Given the description of an element on the screen output the (x, y) to click on. 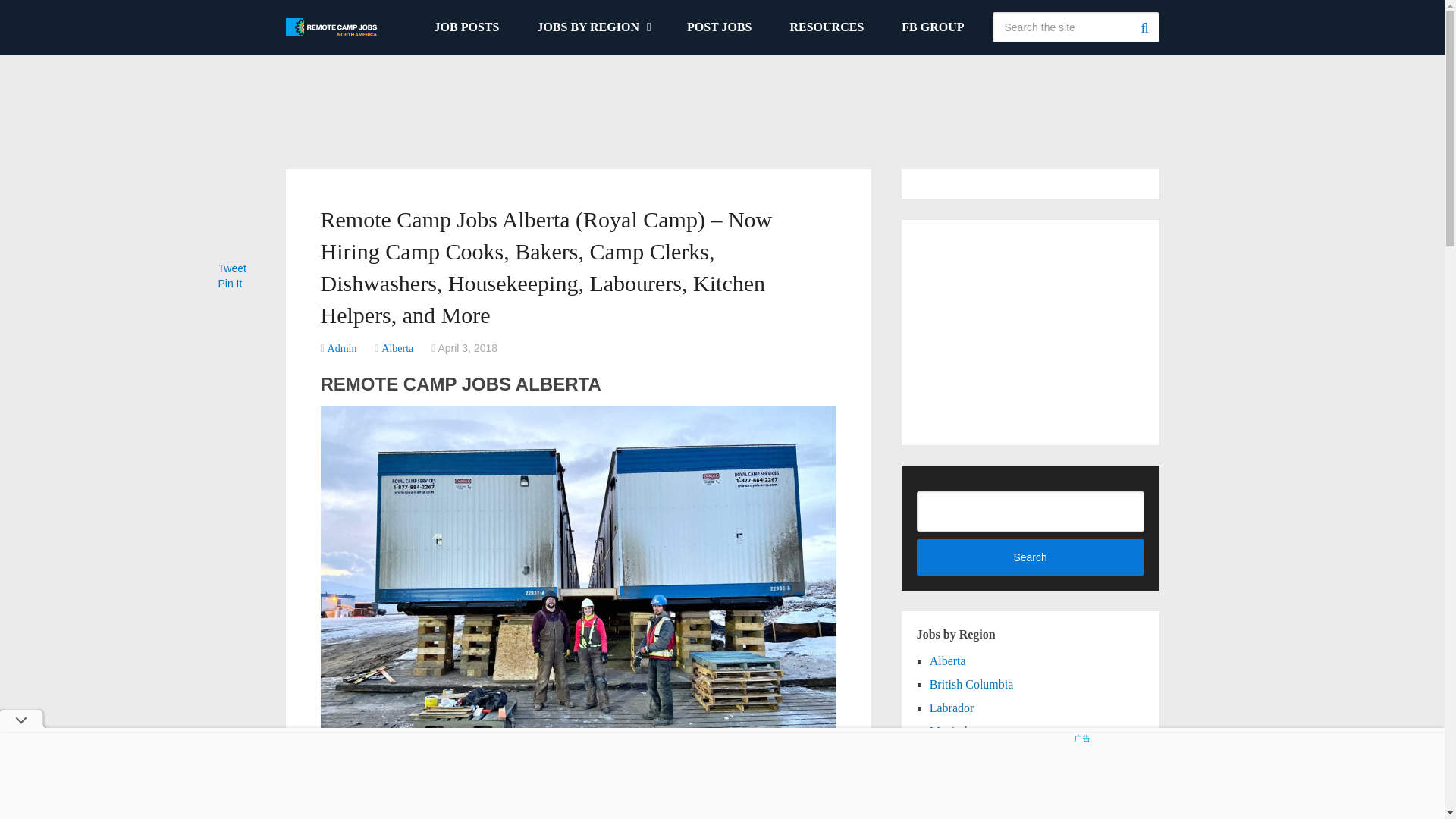
View all posts in Alberta (397, 348)
Alberta (397, 348)
JOB POSTS (466, 27)
Advertisement (721, 103)
POST JOBS (719, 27)
JOBS BY REGION (593, 27)
RESOURCES (826, 27)
Search (1143, 27)
FB GROUP (932, 27)
Admin (341, 348)
